Given the description of an element on the screen output the (x, y) to click on. 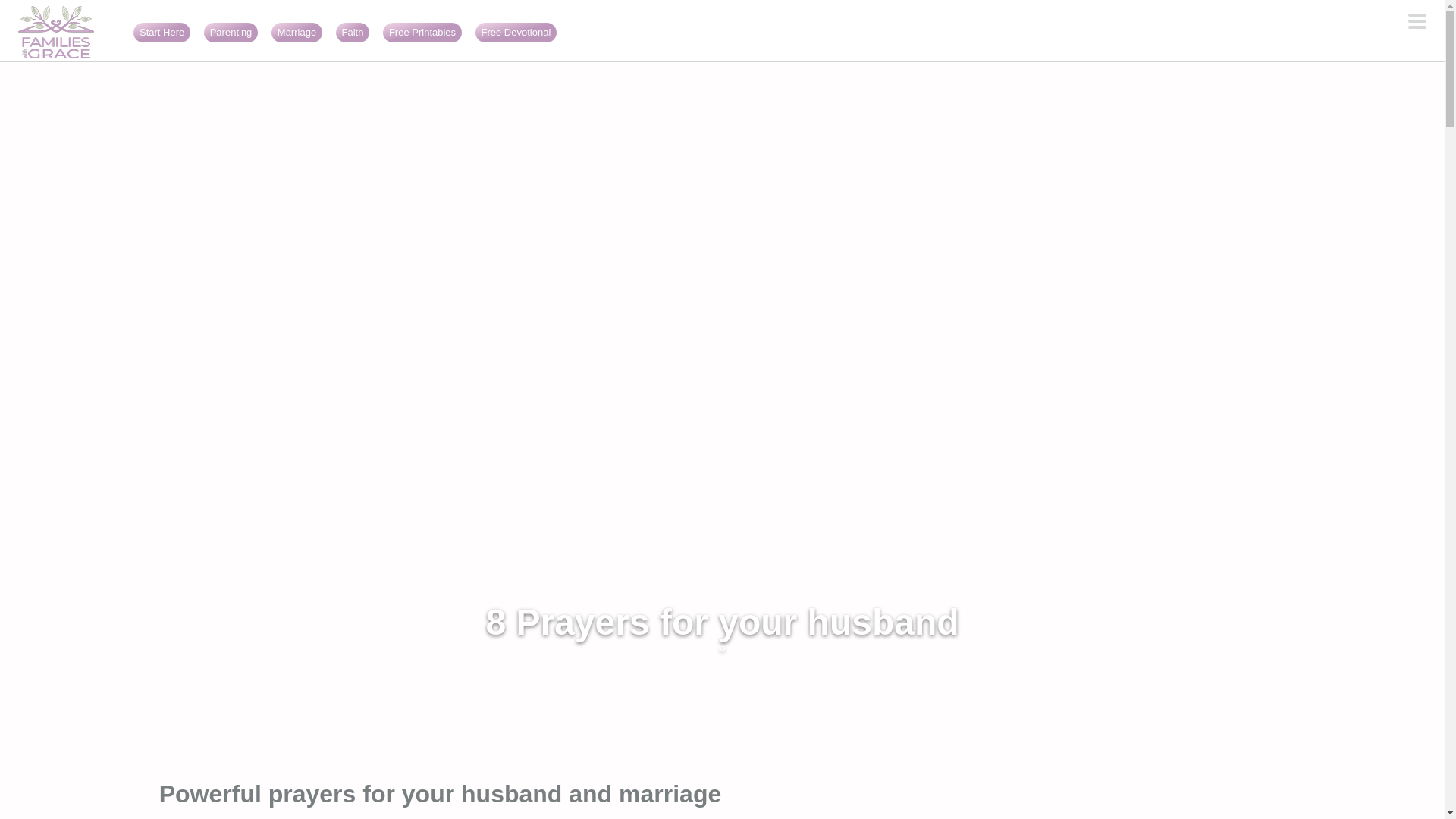
Marriage (296, 31)
Free Devotional (516, 31)
8 Prayers for your husband (722, 628)
primary menu (1416, 22)
Free Printables (421, 31)
Parenting (230, 31)
Faith (353, 31)
Start Here (161, 31)
